Given the description of an element on the screen output the (x, y) to click on. 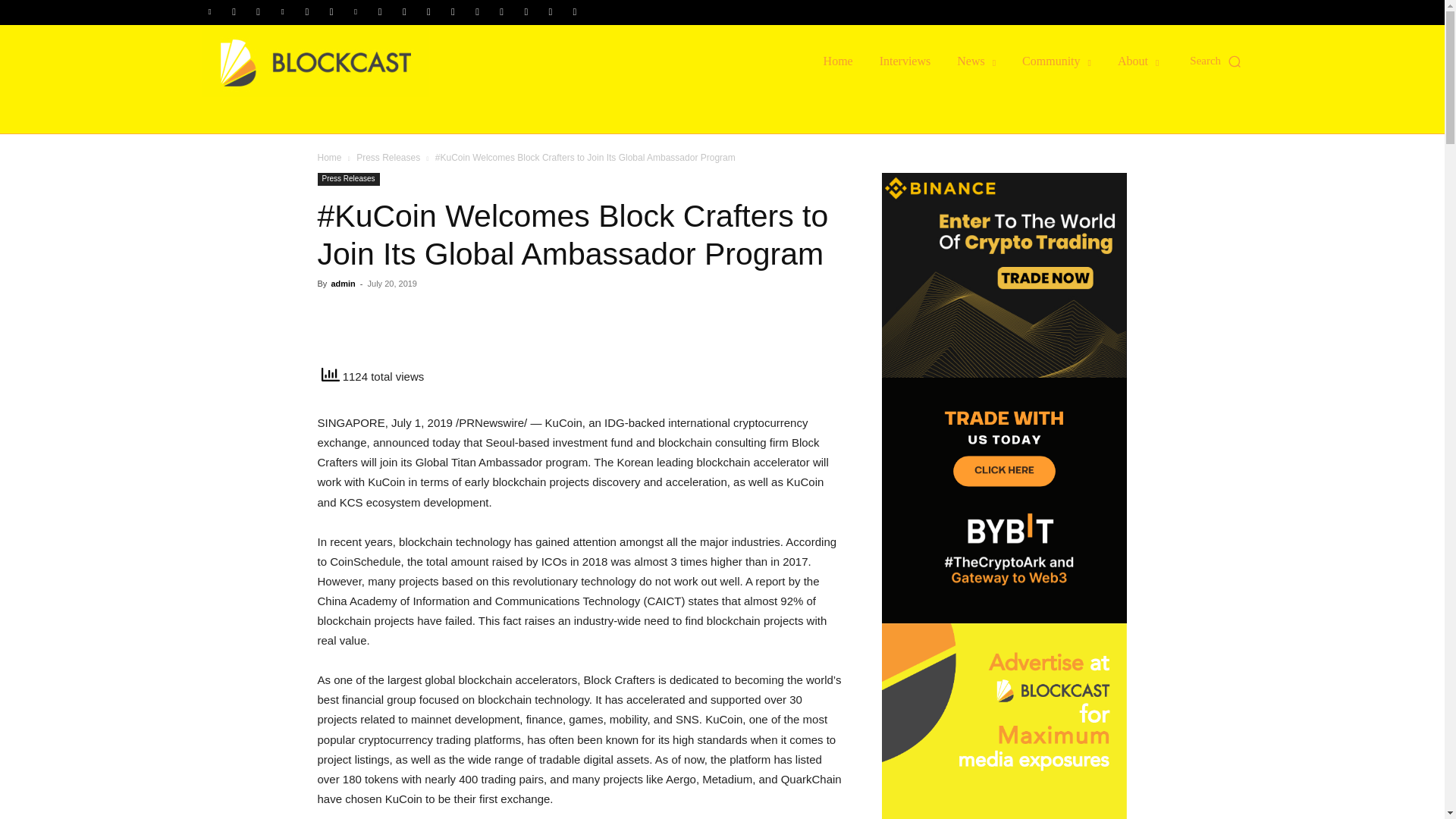
RSS (404, 12)
Telegram (428, 12)
Instagram (258, 12)
Twitter (477, 12)
Naver (331, 12)
Blogger (210, 12)
Linkedin (283, 12)
Facebook (234, 12)
Tumblr (452, 12)
Mail (306, 12)
